Given the description of an element on the screen output the (x, y) to click on. 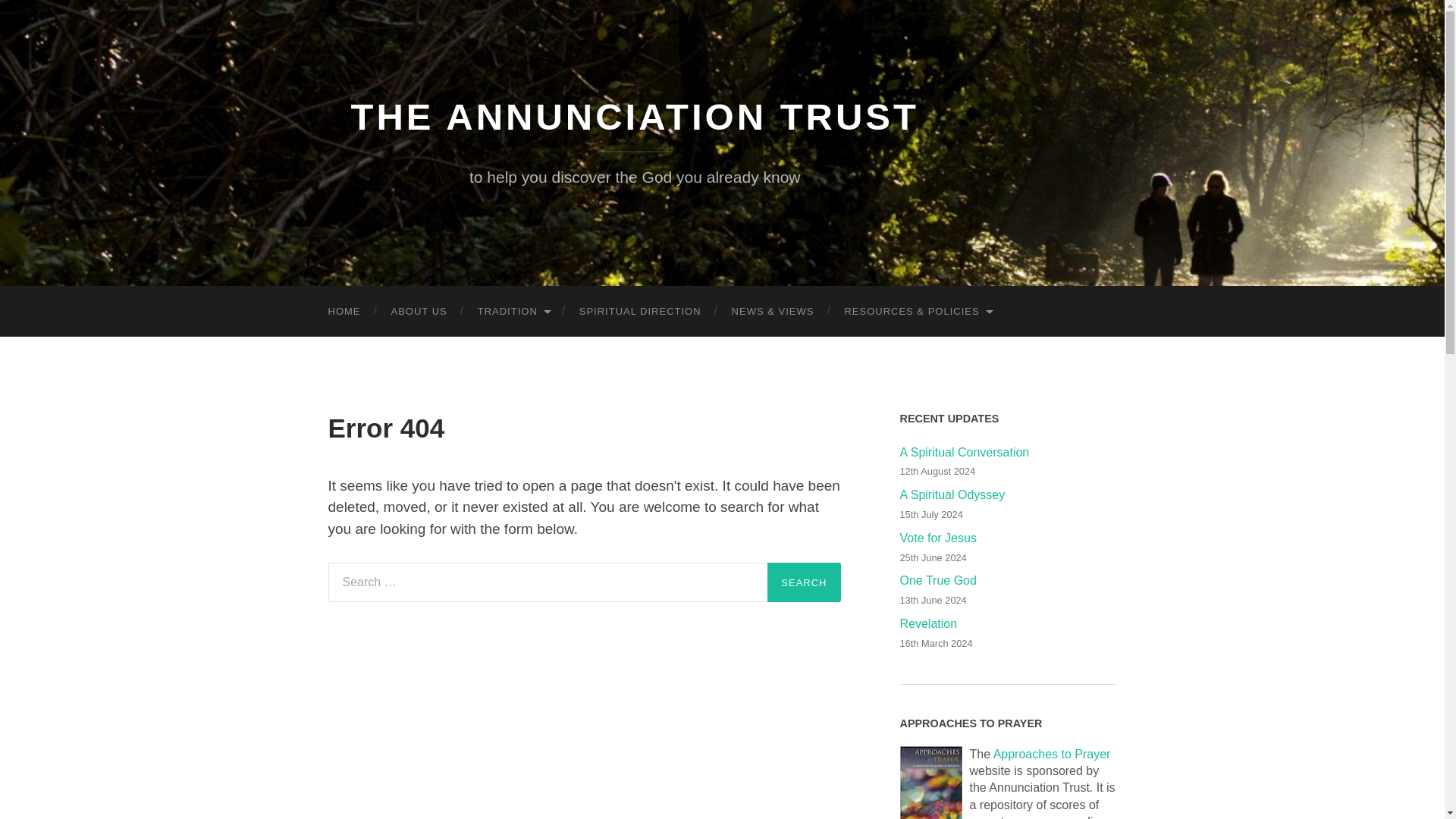
One True God (1007, 580)
Vote for Jesus (1007, 538)
Search (803, 581)
TRADITION (513, 310)
THE ANNUNCIATION TRUST (634, 116)
A Spiritual Conversation (1007, 453)
ABOUT US (419, 310)
Search (803, 581)
SPIRITUAL DIRECTION (640, 310)
Search (803, 581)
